Given the description of an element on the screen output the (x, y) to click on. 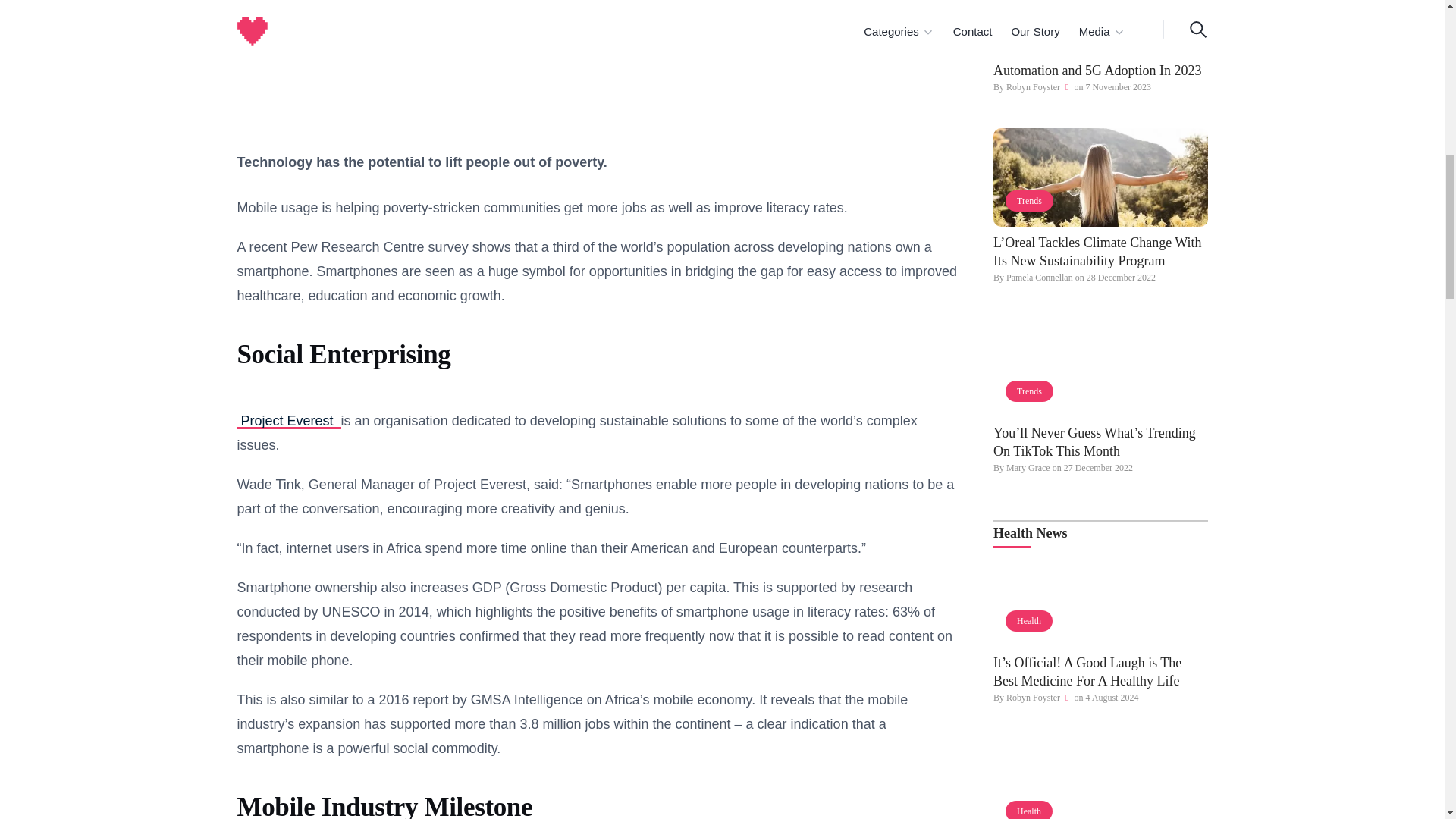
woman in field (1100, 176)
smiling-old-man-in-monochrome (1100, 597)
TikTok (1100, 367)
Advertisement (597, 64)
Project Everest  (287, 420)
